Given the description of an element on the screen output the (x, y) to click on. 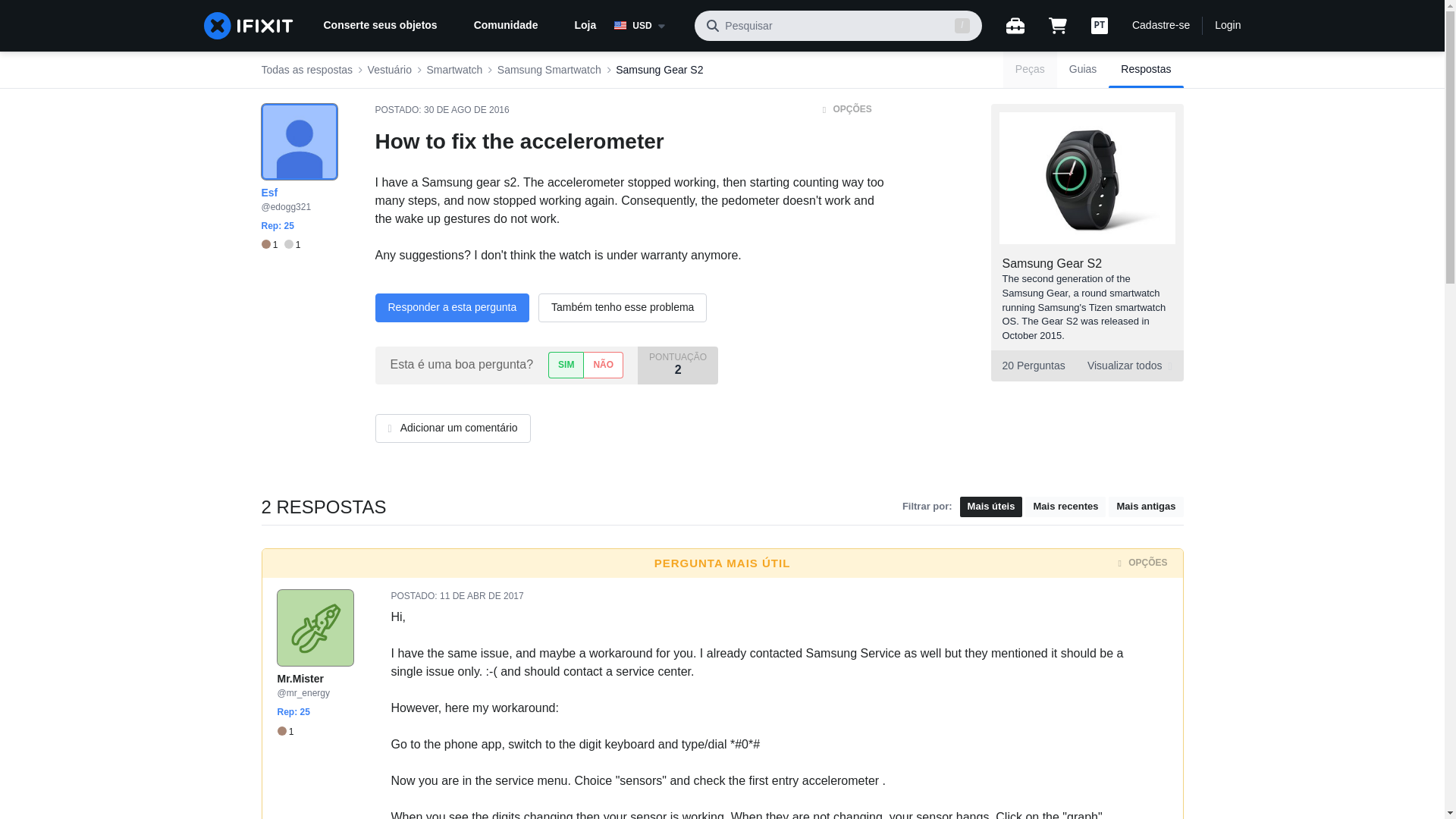
Tue, 11 Apr 2017 08:10:33 -0700 (481, 595)
Login (1227, 25)
1 1 (279, 245)
Todas as respostas (306, 69)
1 emblemas de Bronze (271, 245)
1 emblemas de Bronze (286, 730)
Tue, 30 Aug 2016 12:40:37 -0700 (466, 109)
Samsung Gear S2 (1052, 263)
Samsung Gear S2 (659, 69)
Respostas (1145, 69)
